Given the description of an element on the screen output the (x, y) to click on. 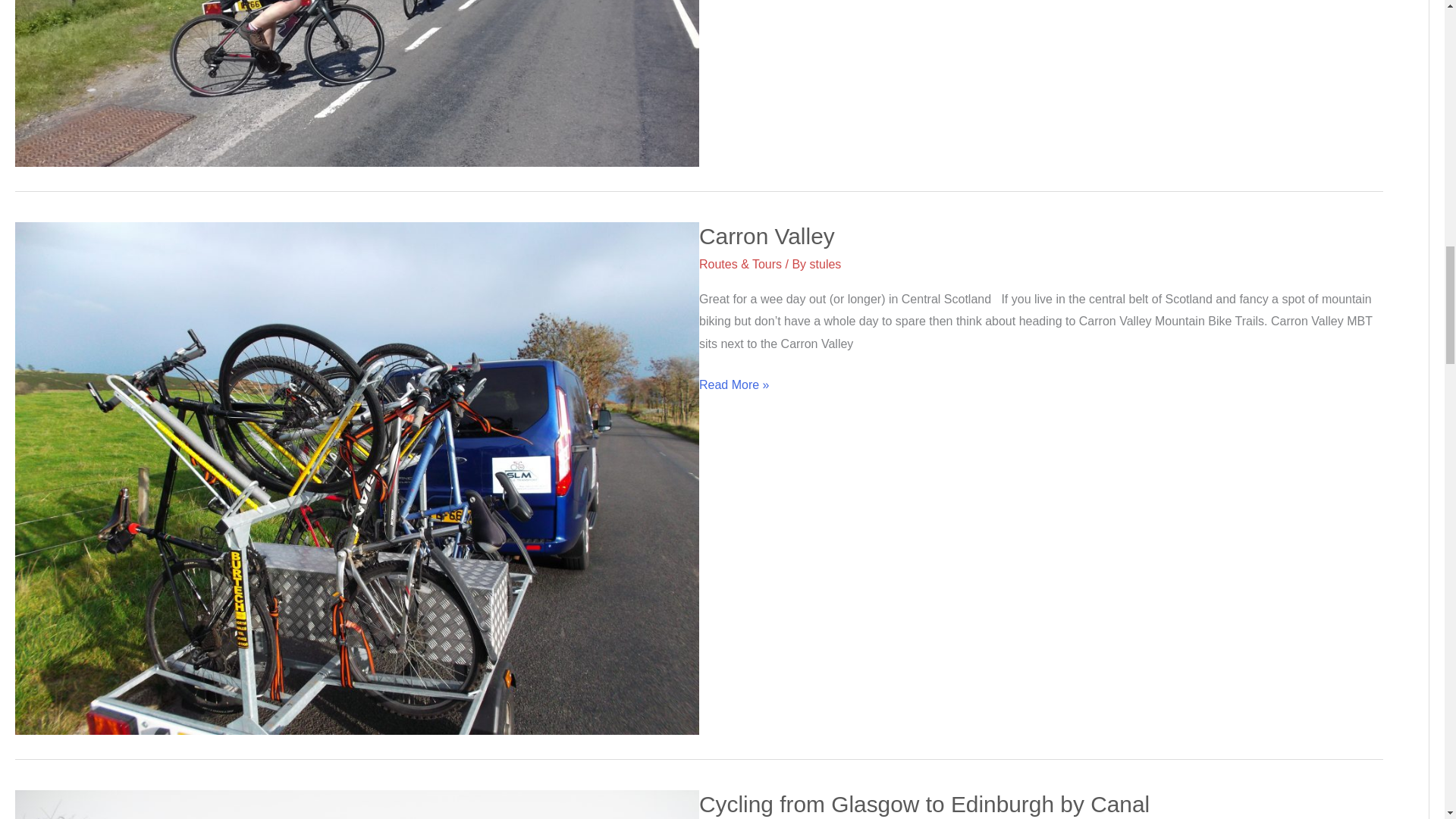
Carron Valley (766, 235)
View all posts by stules (825, 264)
Cycling from Glasgow to Edinburgh by Canal (924, 803)
stules (825, 264)
